Given the description of an element on the screen output the (x, y) to click on. 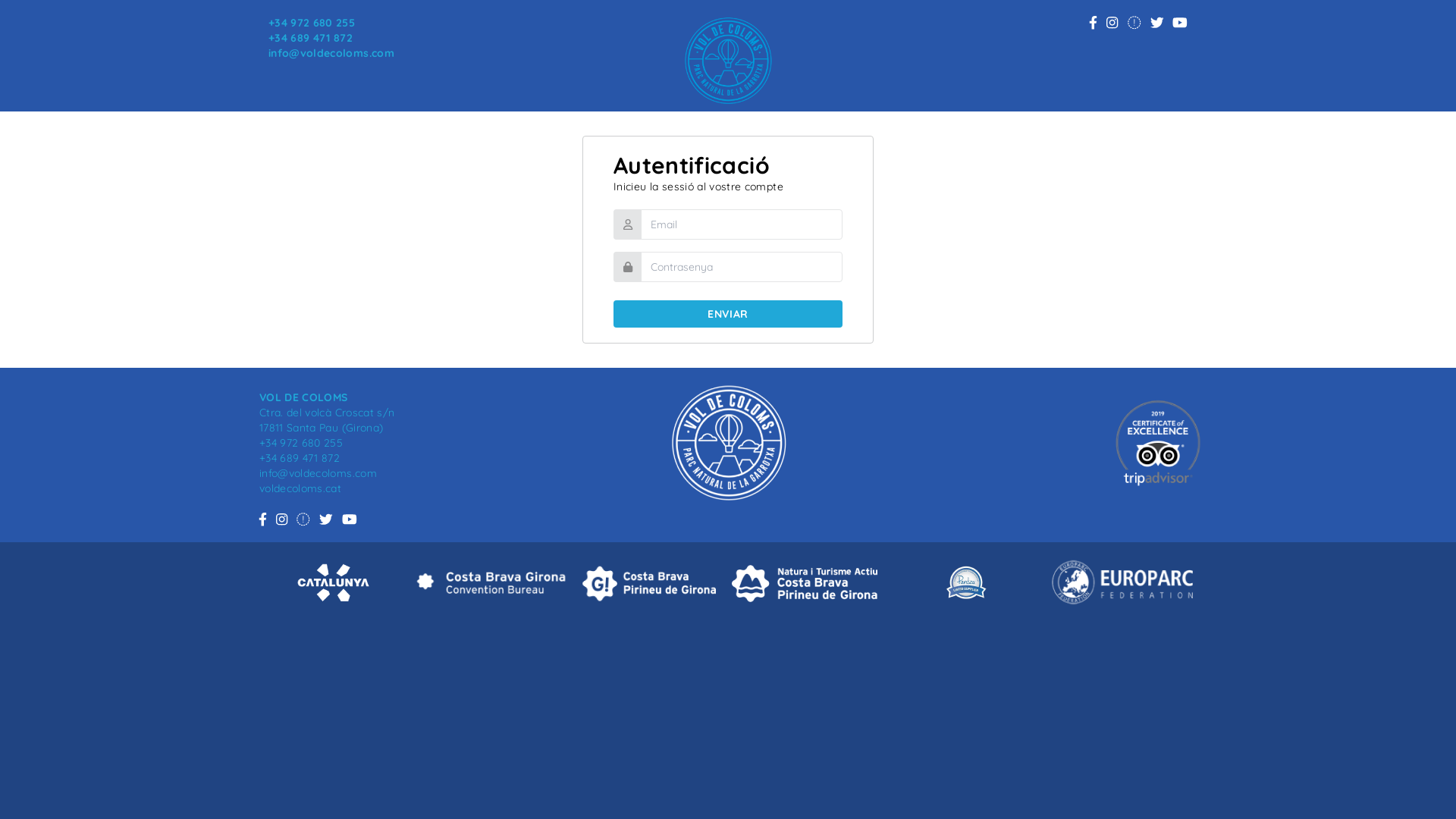
info@voldecoloms.com Element type: text (317, 473)
info@voldecoloms.com Element type: text (331, 52)
voldecoloms.cat Element type: text (300, 488)
ENVIAR Element type: text (727, 313)
